Given the description of an element on the screen output the (x, y) to click on. 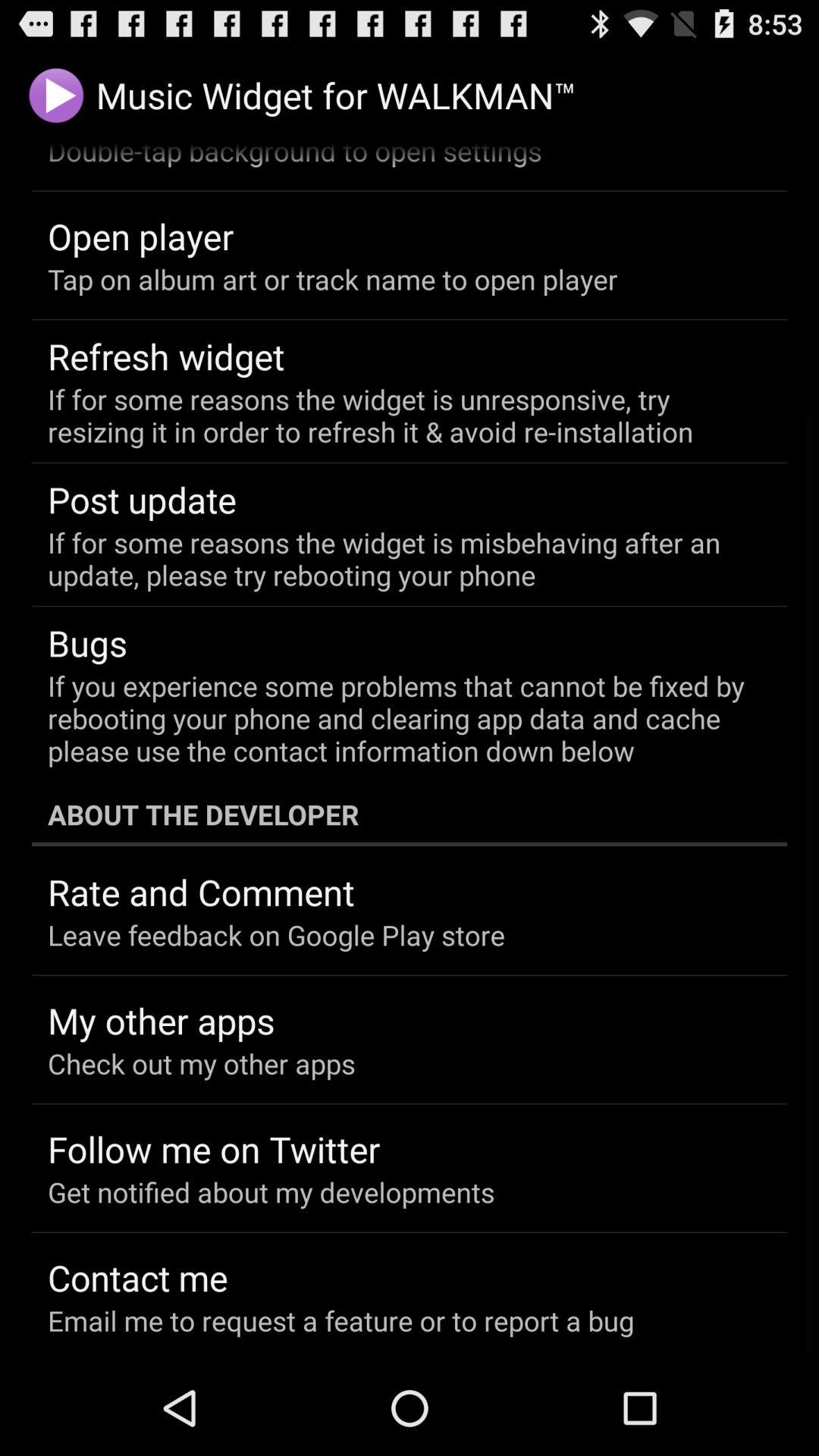
choose contact me icon (137, 1277)
